Given the description of an element on the screen output the (x, y) to click on. 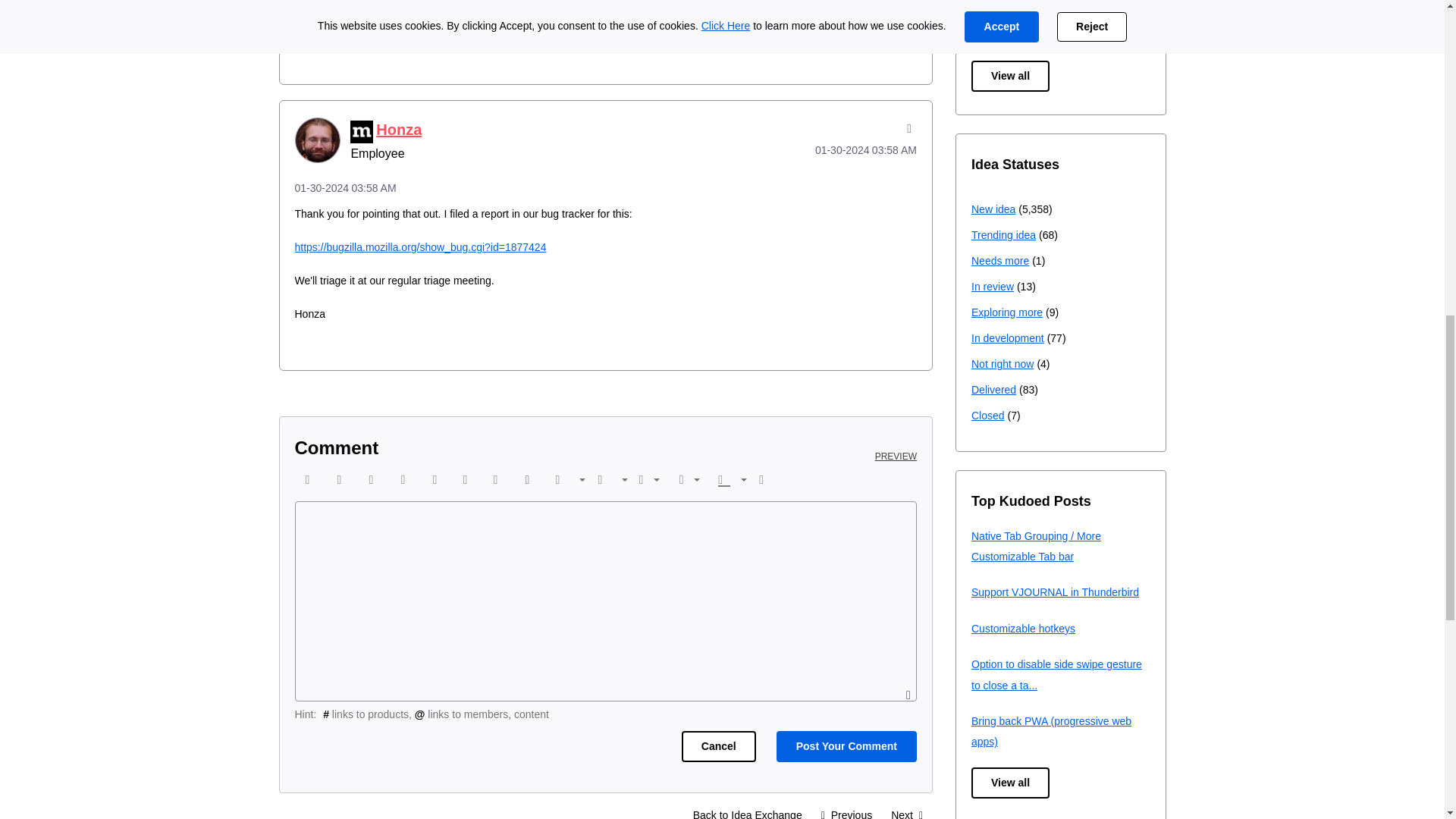
Cancel (718, 746)
Posted on (605, 5)
Post Your Comment (846, 746)
